Given the description of an element on the screen output the (x, y) to click on. 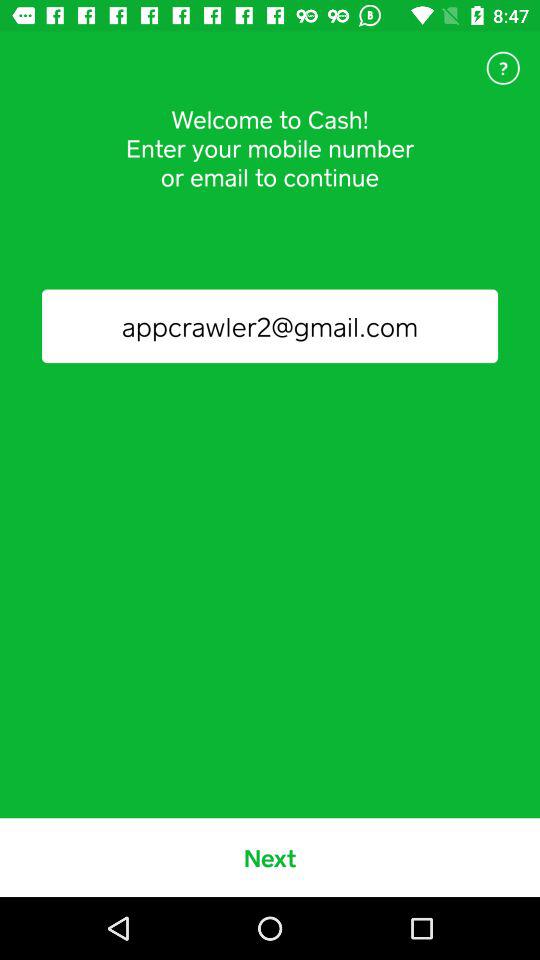
turn on icon at the top right corner (503, 68)
